Given the description of an element on the screen output the (x, y) to click on. 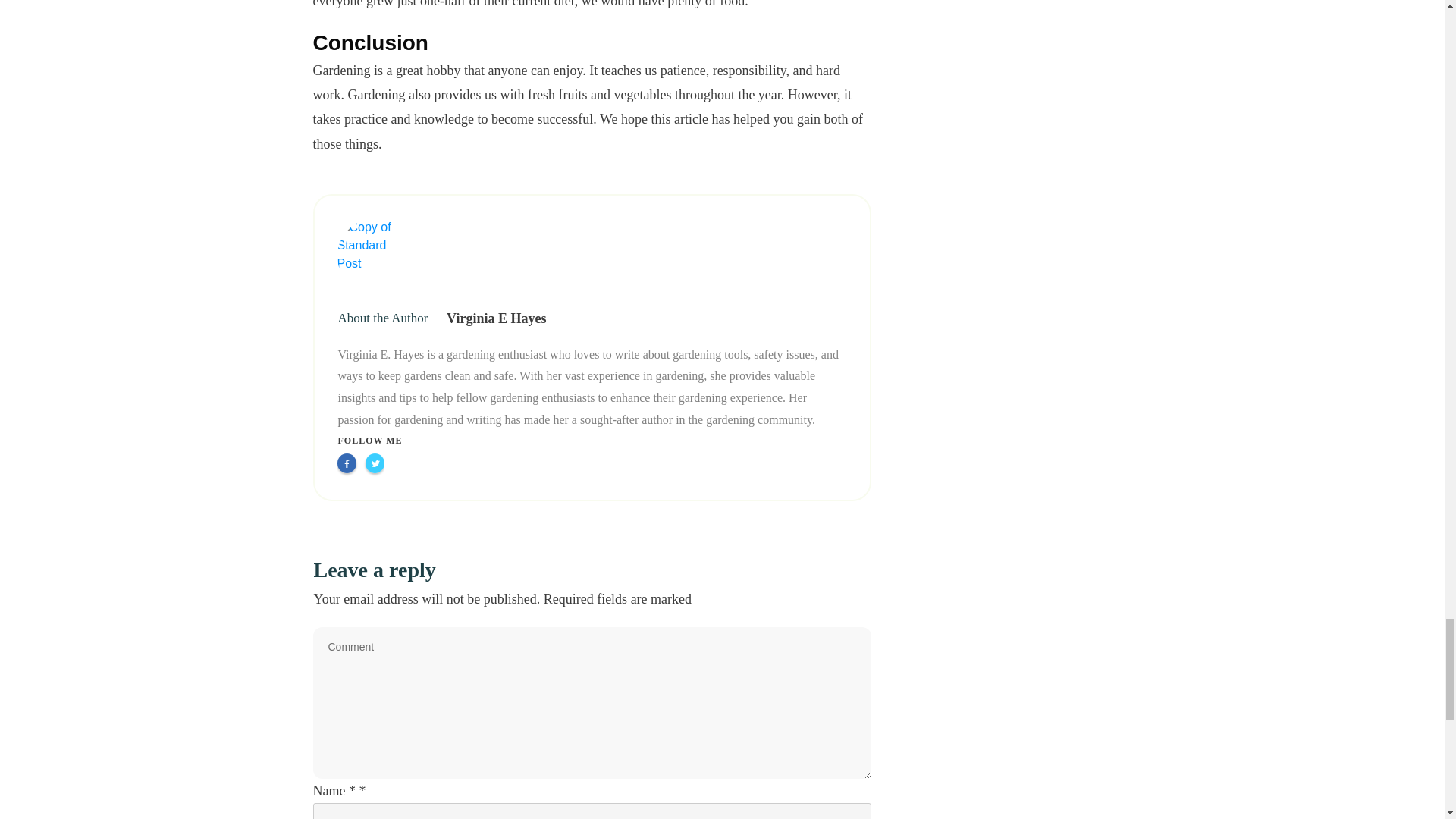
Virginia E Hayes (496, 318)
Copy of Standard Post (374, 256)
